Given the description of an element on the screen output the (x, y) to click on. 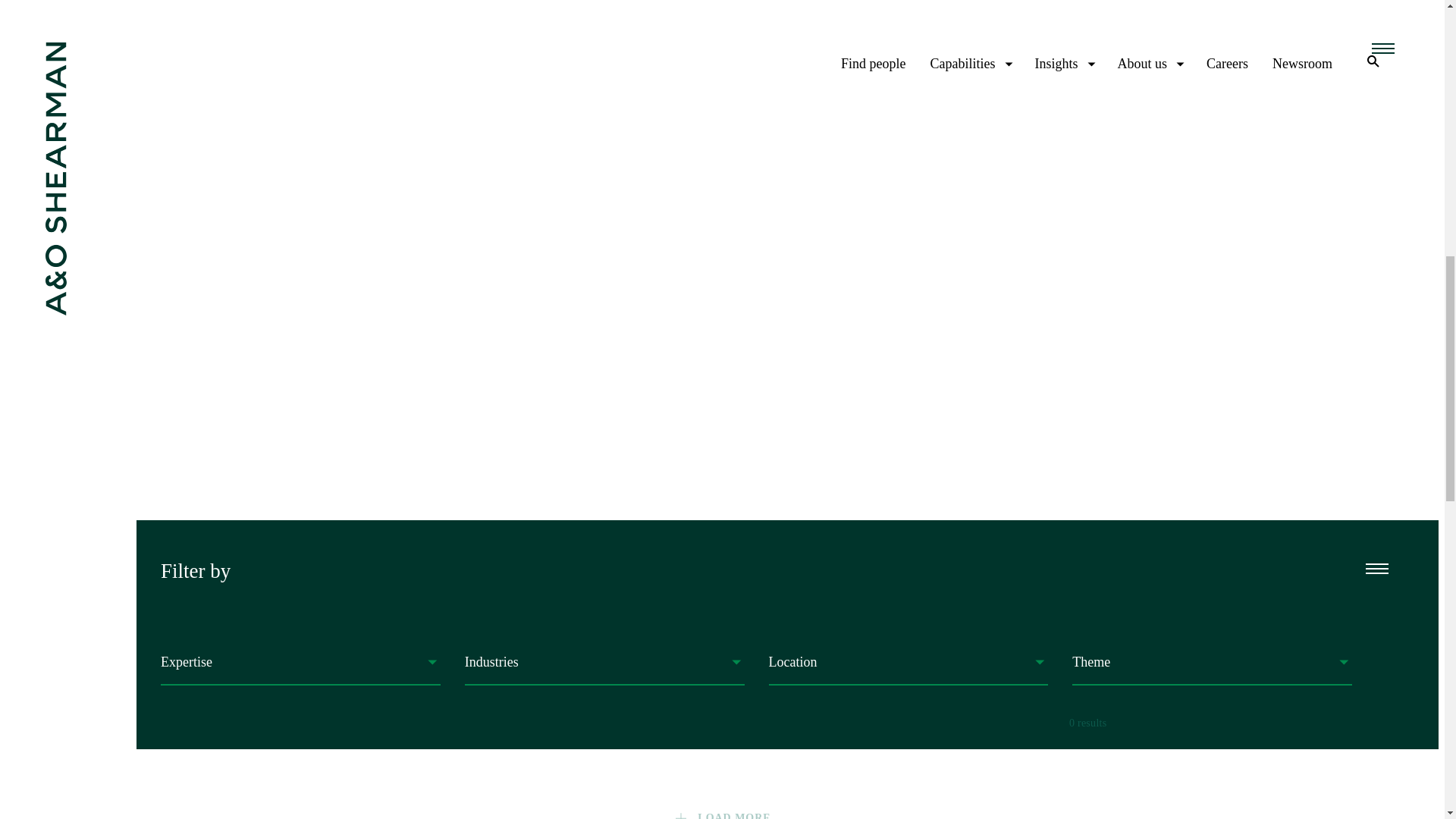
LOAD MORE (721, 814)
